Given the description of an element on the screen output the (x, y) to click on. 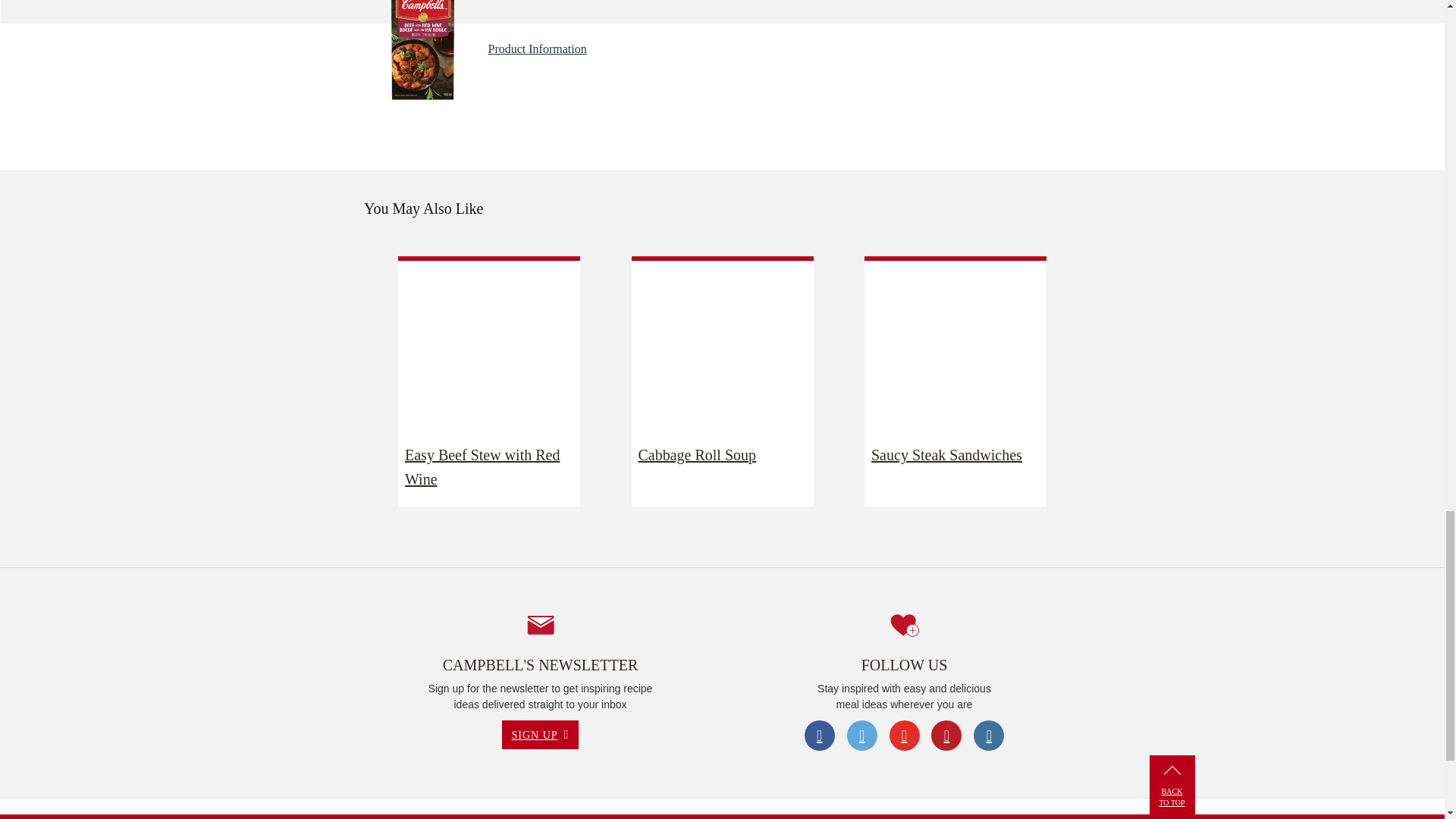
Cabbage Roll Soup (722, 454)
Easy Beef Stew with Red Wine (488, 467)
Product Information (536, 49)
